Given the description of an element on the screen output the (x, y) to click on. 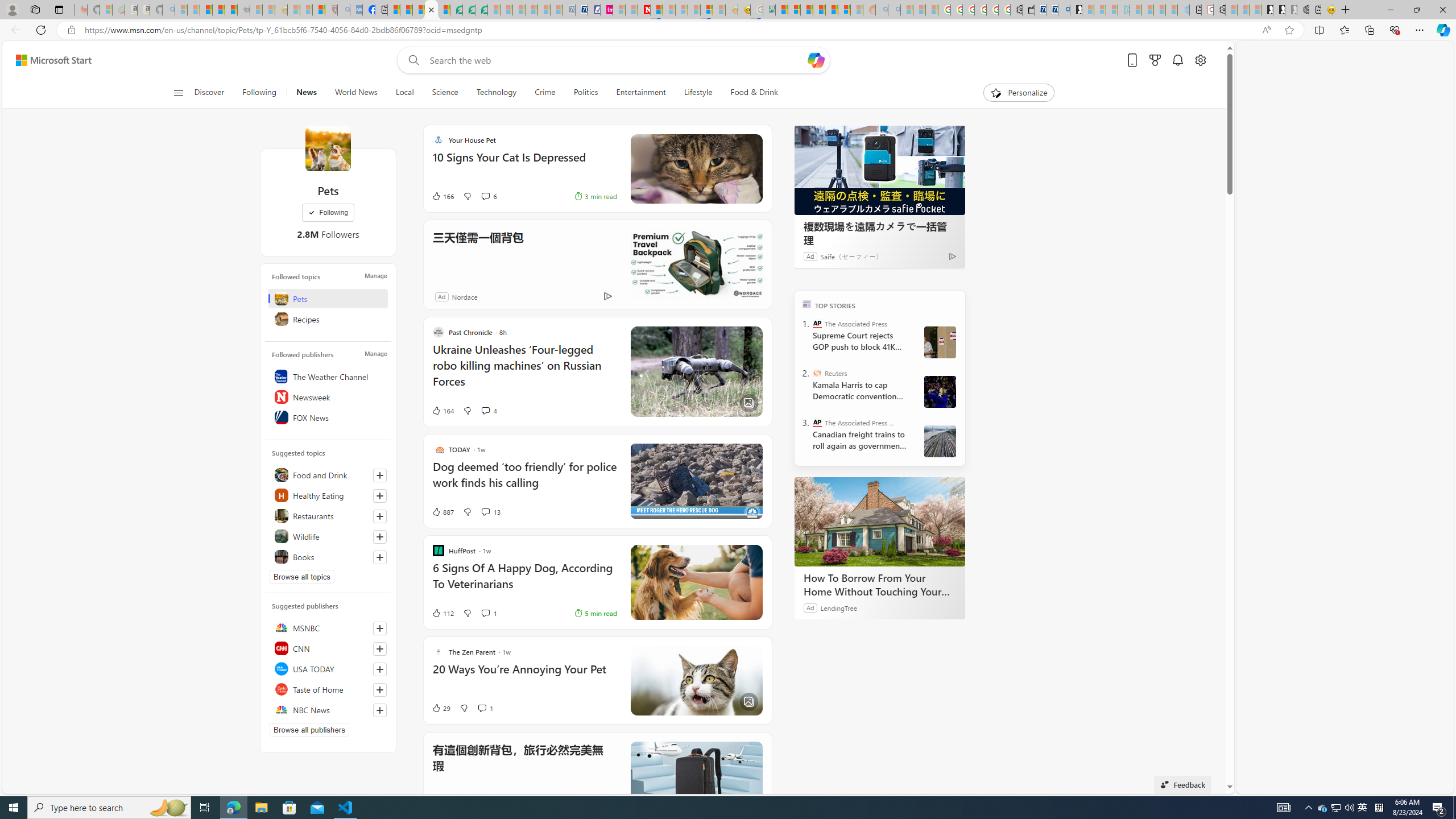
Books (327, 556)
CNN (327, 647)
Pets (327, 298)
166 Like (442, 196)
View comments 4 Comment (489, 410)
Follow this source (379, 710)
